Given the description of an element on the screen output the (x, y) to click on. 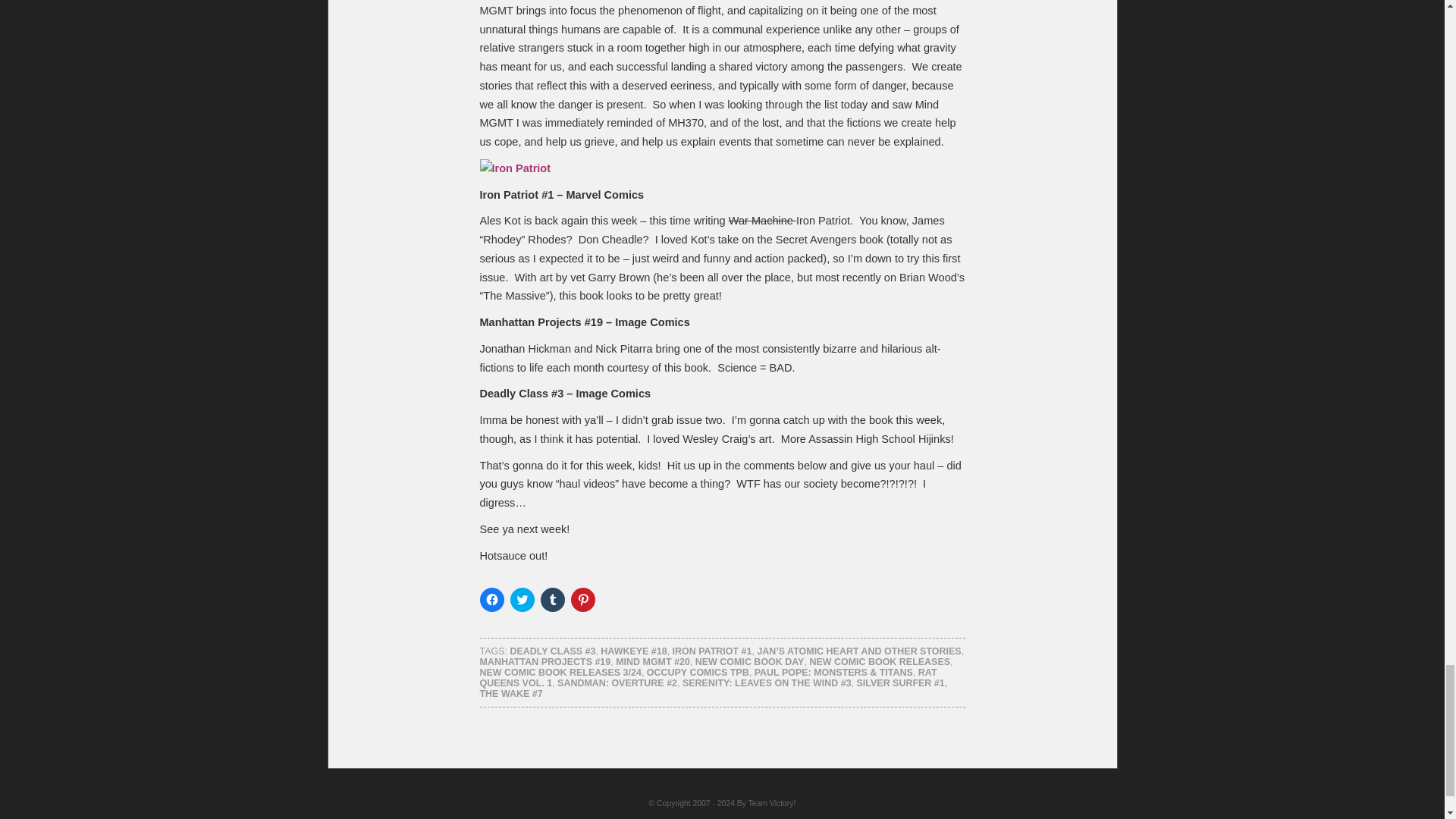
Click to share on Pinterest (582, 599)
Click to share on Twitter (521, 599)
Click to share on Tumblr (552, 599)
Click to share on Facebook (491, 599)
